Given the description of an element on the screen output the (x, y) to click on. 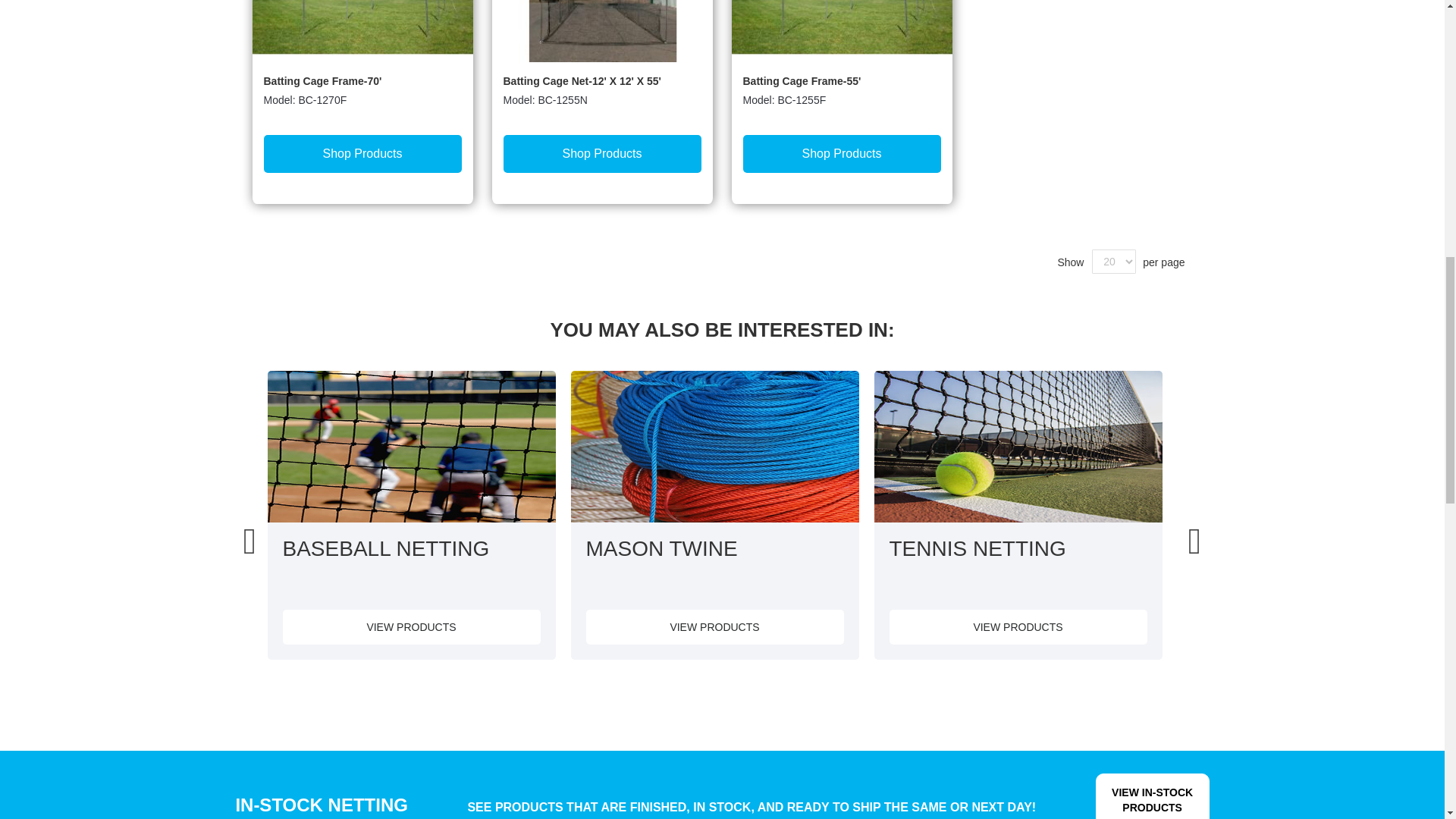
Shop Products (362, 153)
